Given the description of an element on the screen output the (x, y) to click on. 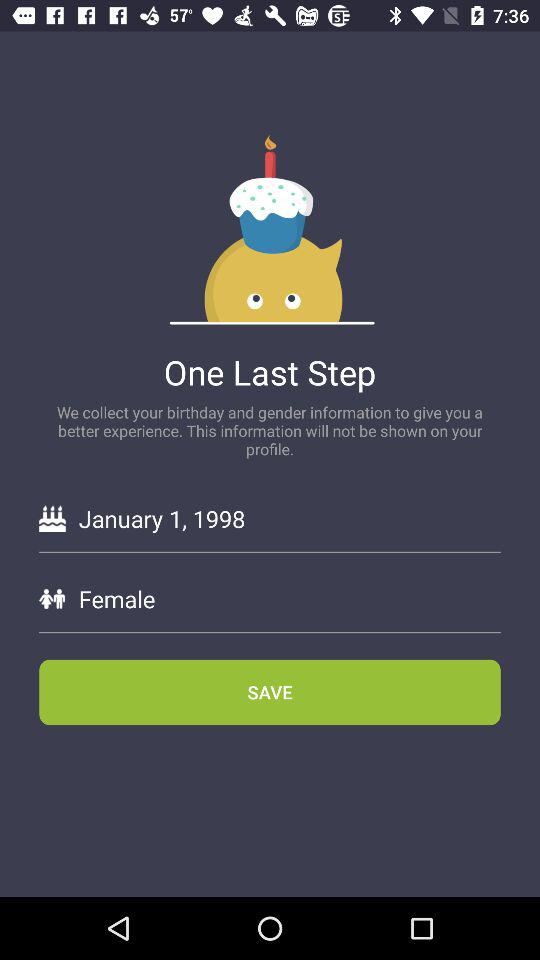
swipe until the female (289, 598)
